Given the description of an element on the screen output the (x, y) to click on. 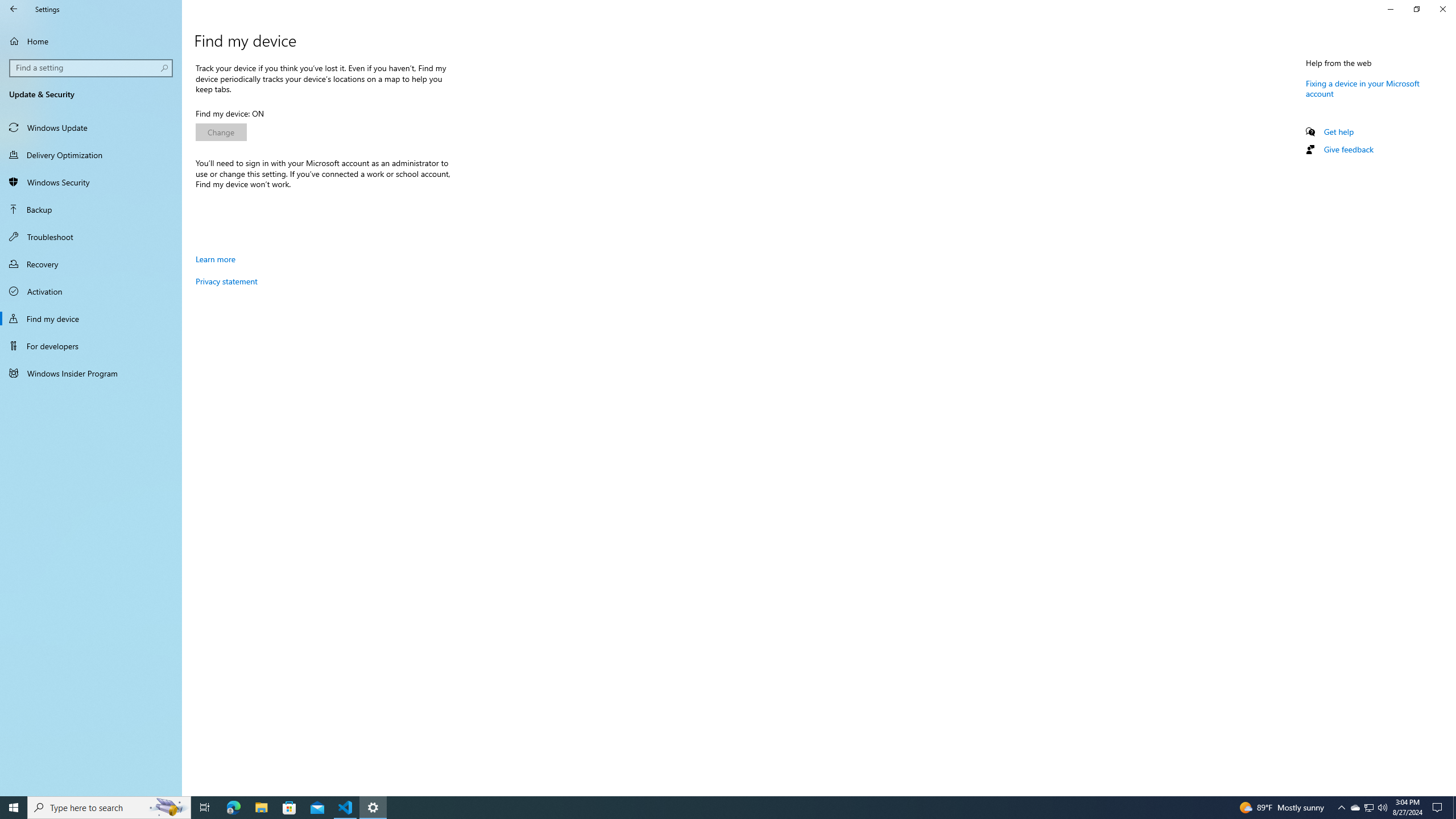
Delivery Optimization (91, 154)
Notification Chevron (1341, 807)
User Promoted Notification Area (1368, 807)
Privacy statement (226, 281)
Microsoft Store (289, 807)
Type here to search (108, 807)
Windows Security (91, 181)
Recovery (91, 263)
Windows Insider Program (91, 372)
Get help (1338, 131)
Learn more (215, 258)
Start (13, 807)
Find my device (91, 318)
